Given the description of an element on the screen output the (x, y) to click on. 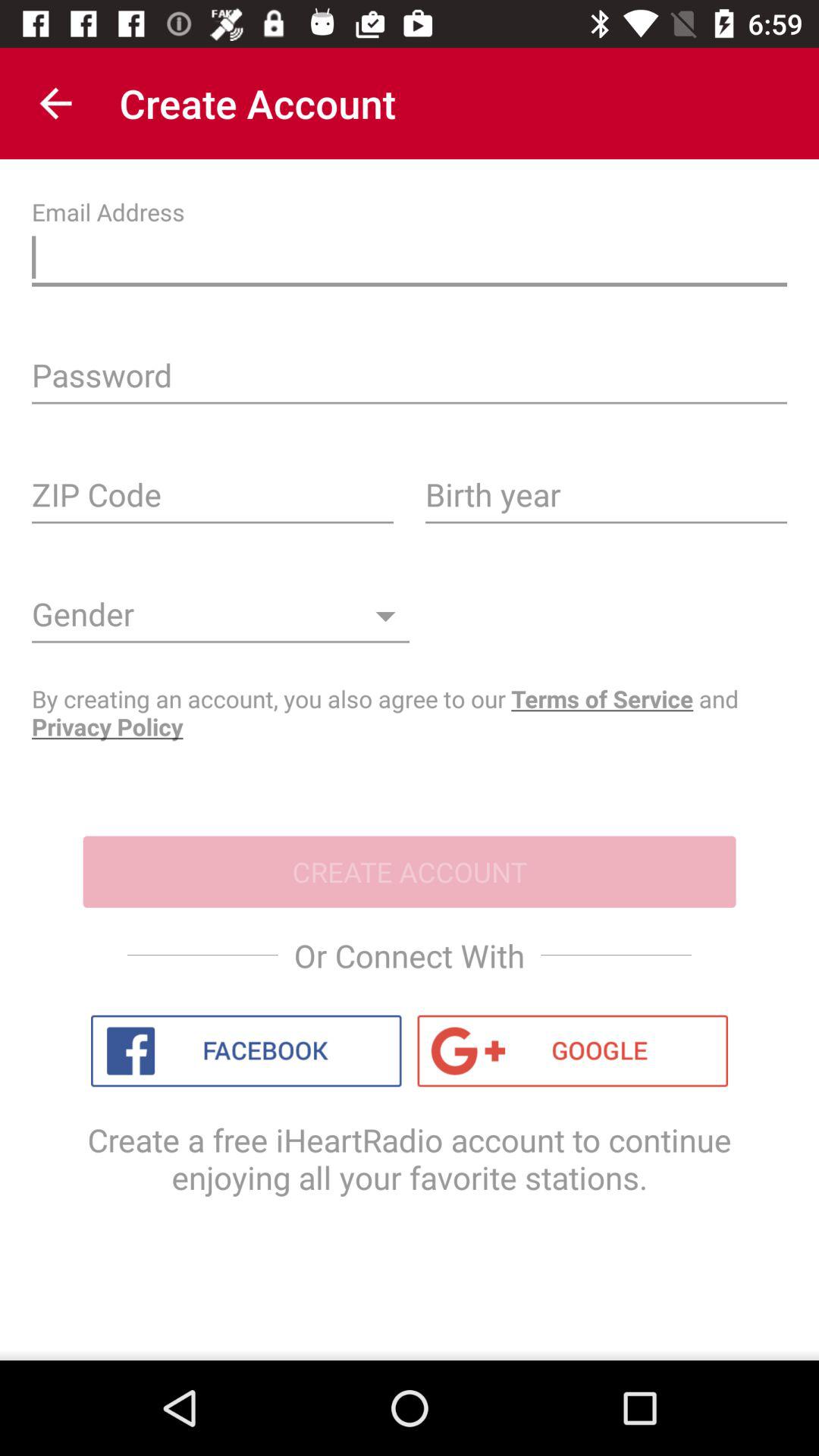
enter your birth year (606, 499)
